Given the description of an element on the screen output the (x, y) to click on. 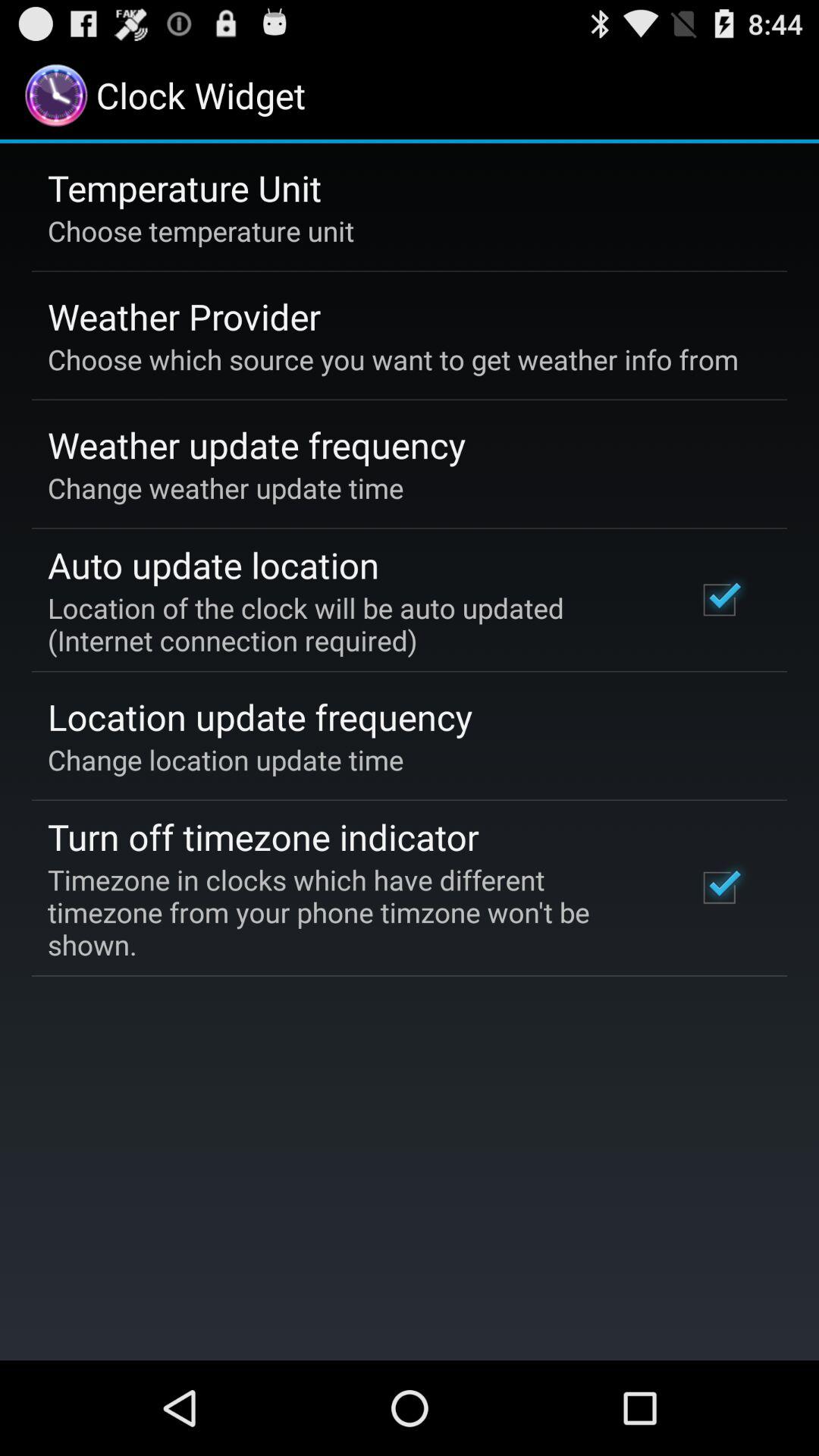
launch the app at the top (392, 359)
